Given the description of an element on the screen output the (x, y) to click on. 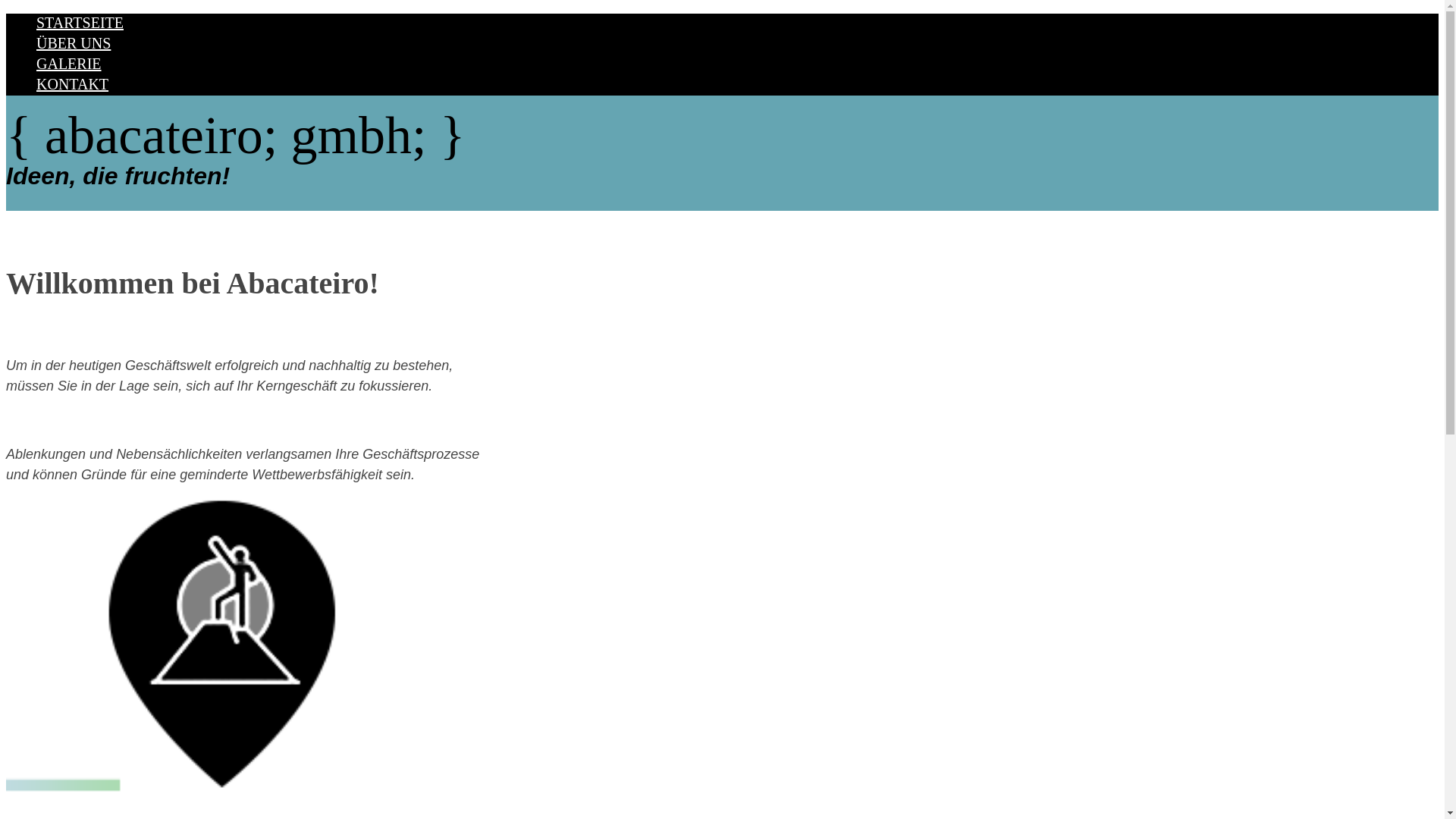
GALERIE Element type: text (68, 63)
STARTSEITE Element type: text (79, 22)
KONTAKT Element type: text (72, 83)
